Given the description of an element on the screen output the (x, y) to click on. 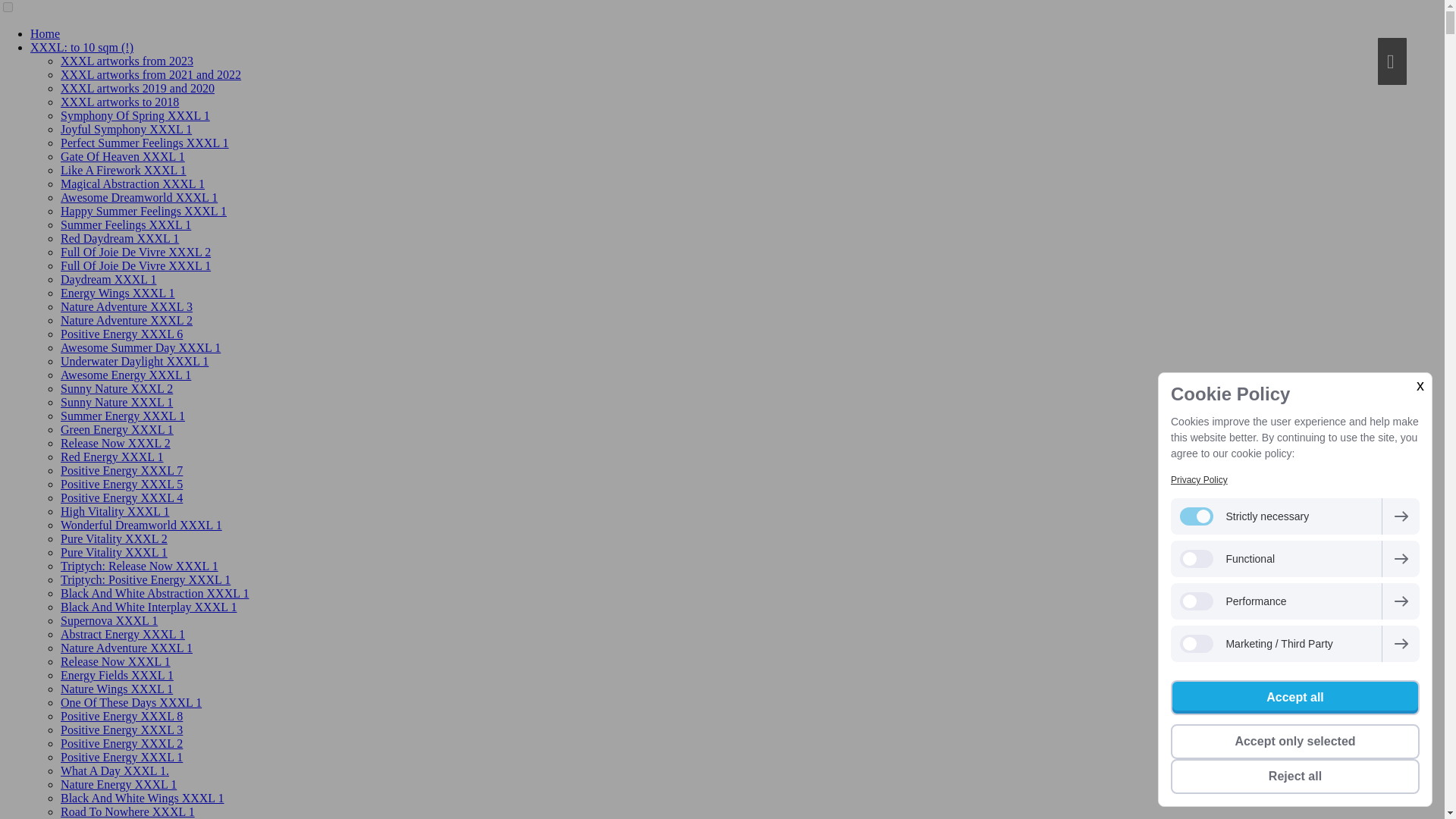
Sunny Nature XXXL 1 (117, 401)
Happy Summer Feelings XXXL 1 (144, 210)
High Vitality XXXL 1 (114, 511)
XXXL artworks from 2021 and 2022 (151, 74)
Sunny Nature XXXL 2 (117, 388)
Perfect Summer Feelings XXXL 1 (144, 142)
Full Of Joie De Vivre XXXL 2 (136, 251)
Positive Energy XXXL 6 (122, 333)
Underwater Daylight XXXL 1 (134, 360)
Magical Abstraction XXXL 1 (133, 183)
